Given the description of an element on the screen output the (x, y) to click on. 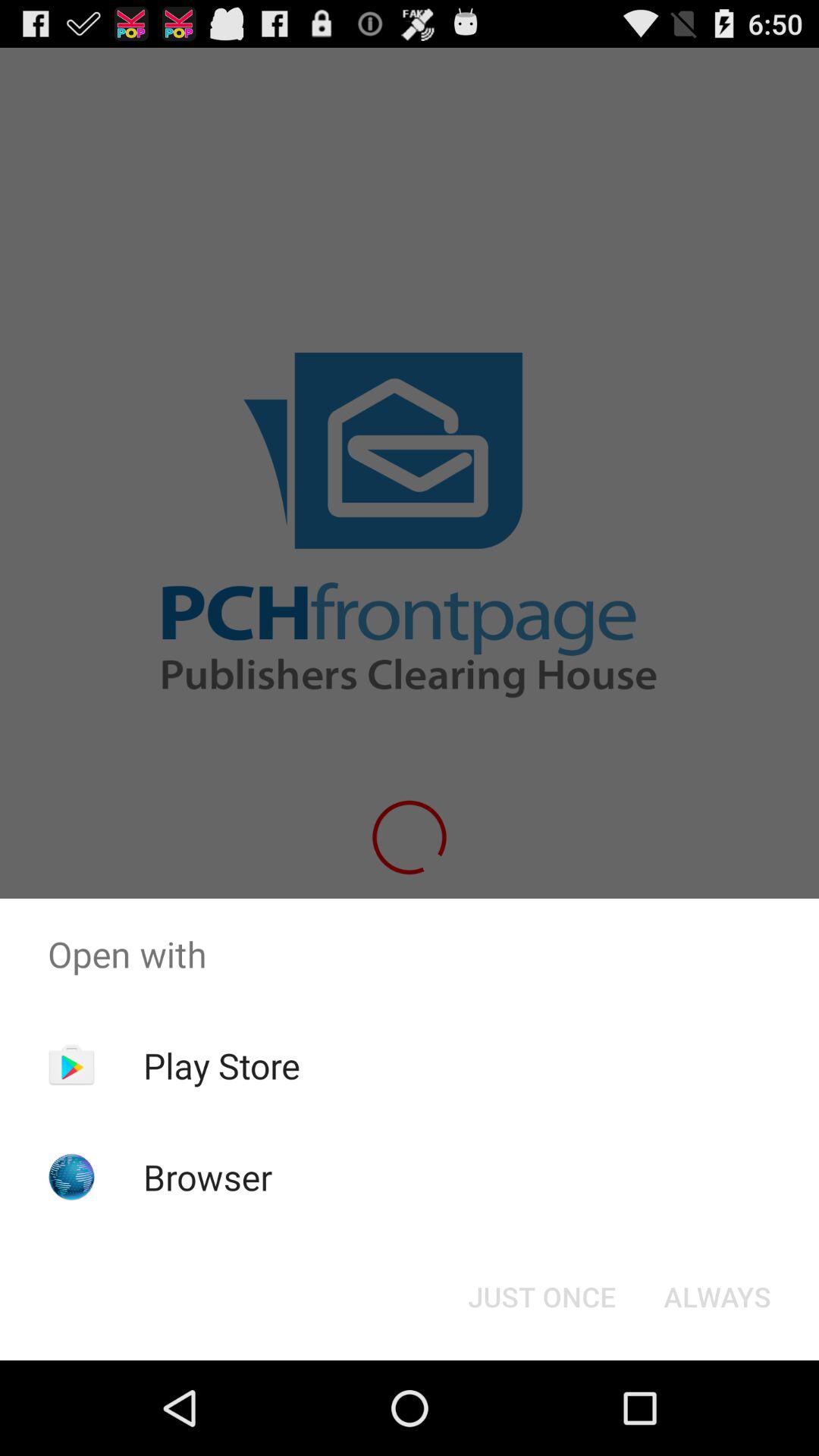
click icon at the bottom right corner (717, 1296)
